Given the description of an element on the screen output the (x, y) to click on. 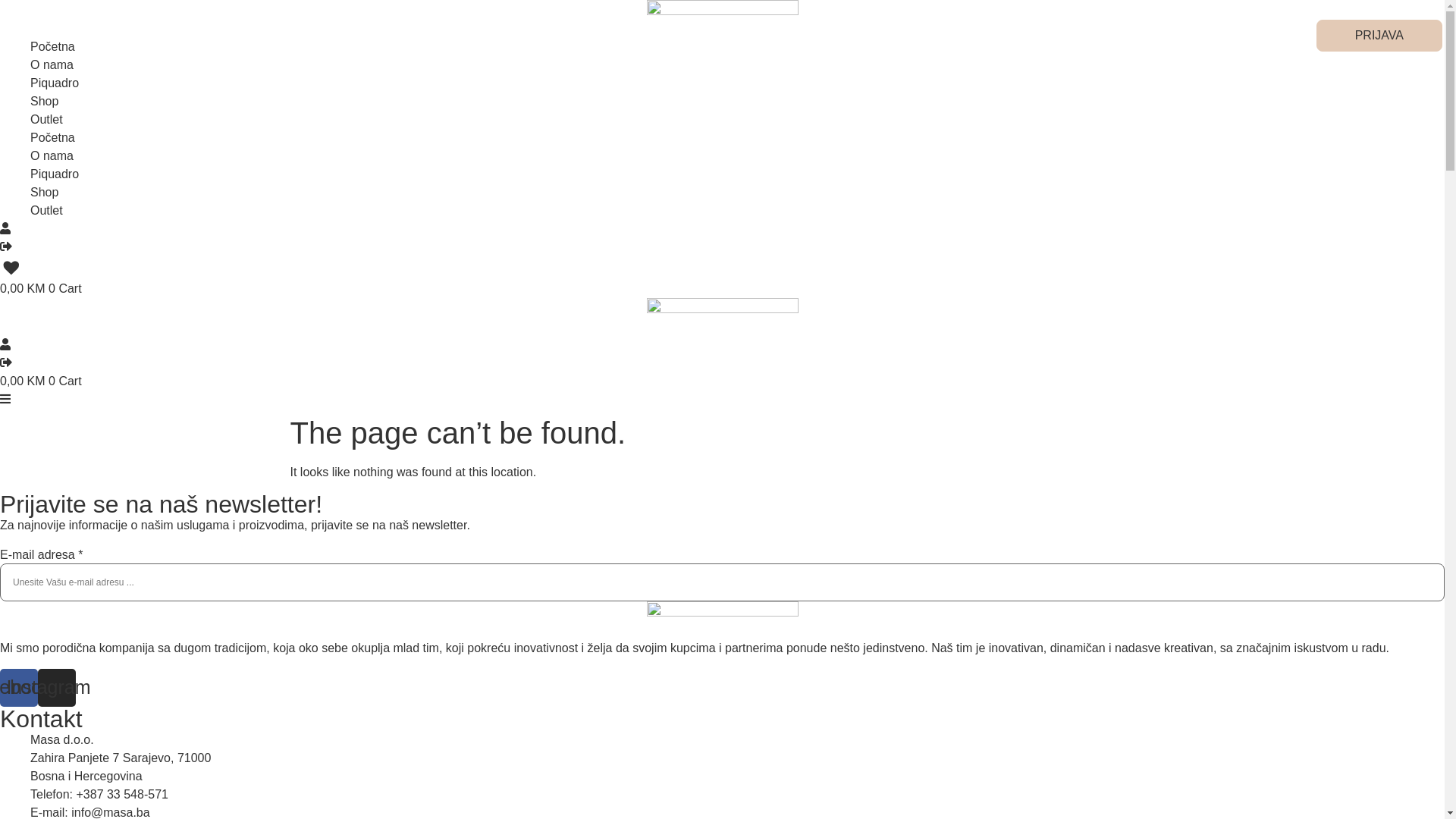
Outlet Element type: text (46, 118)
0,00 KM 0 Cart Element type: text (40, 380)
Piquadro Element type: text (54, 173)
Outlet Element type: text (46, 209)
Piquadro Element type: text (54, 82)
Telefon: +387 33 548-571 Element type: text (99, 793)
O nama Element type: text (51, 64)
PRIJAVA Element type: text (1379, 35)
Facebook Element type: text (18, 687)
O nama Element type: text (51, 155)
Shop Element type: text (44, 191)
Shop Element type: text (44, 100)
Instagram Element type: text (56, 687)
0,00 KM 0 Cart Element type: text (40, 288)
